Given the description of an element on the screen output the (x, y) to click on. 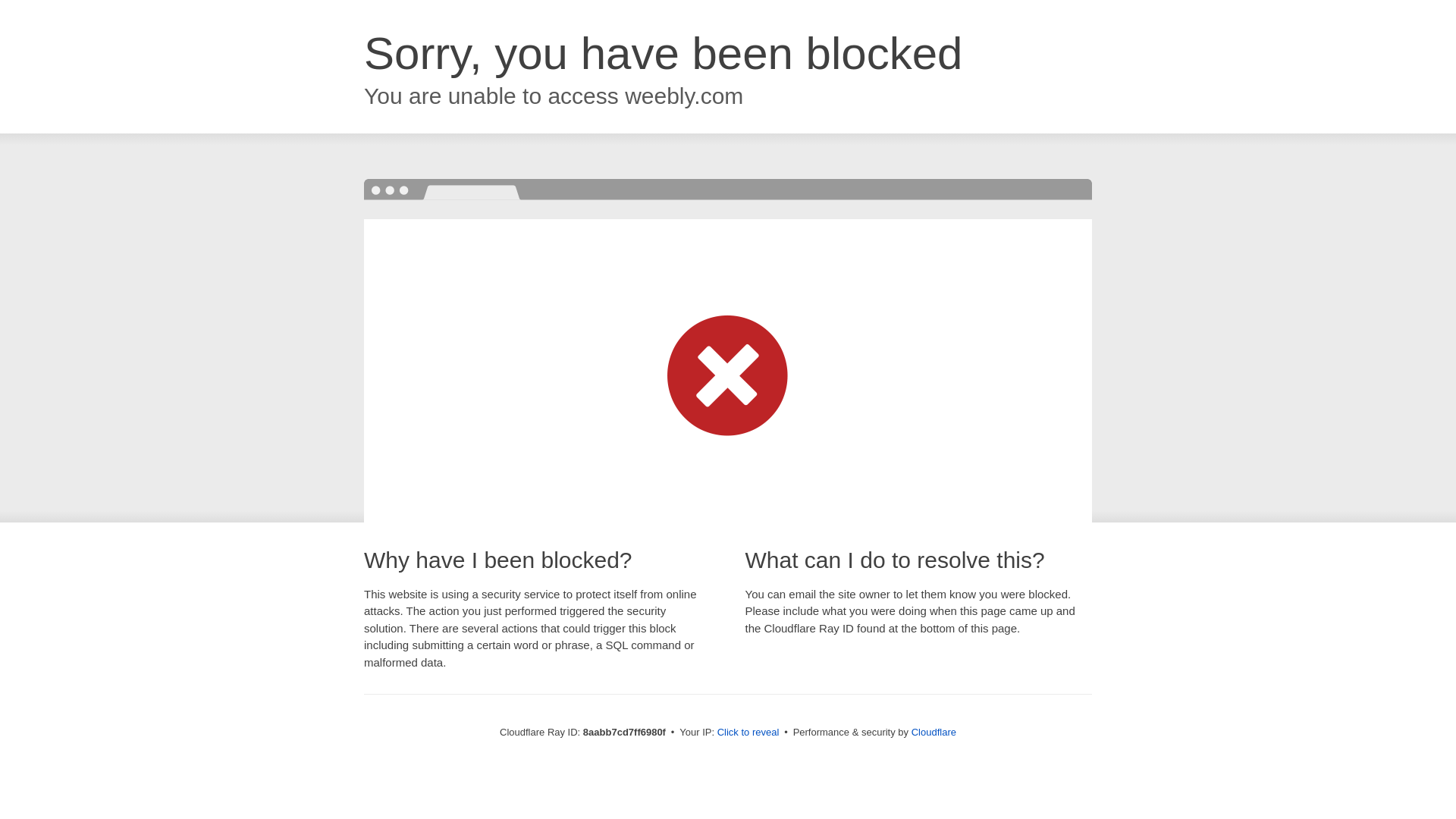
Click to reveal (747, 732)
Cloudflare (933, 731)
